Given the description of an element on the screen output the (x, y) to click on. 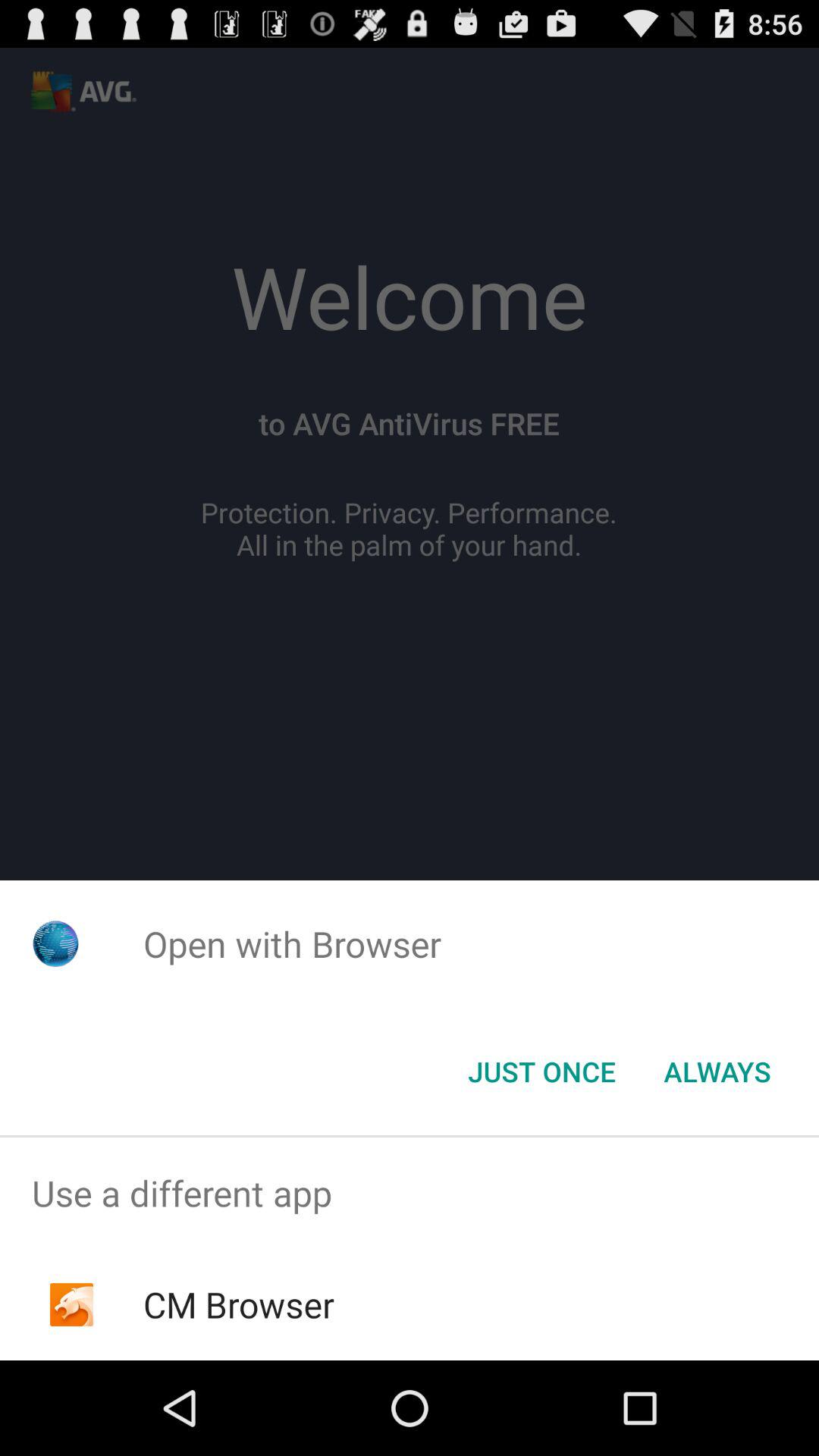
turn off the icon to the right of the just once (717, 1071)
